Given the description of an element on the screen output the (x, y) to click on. 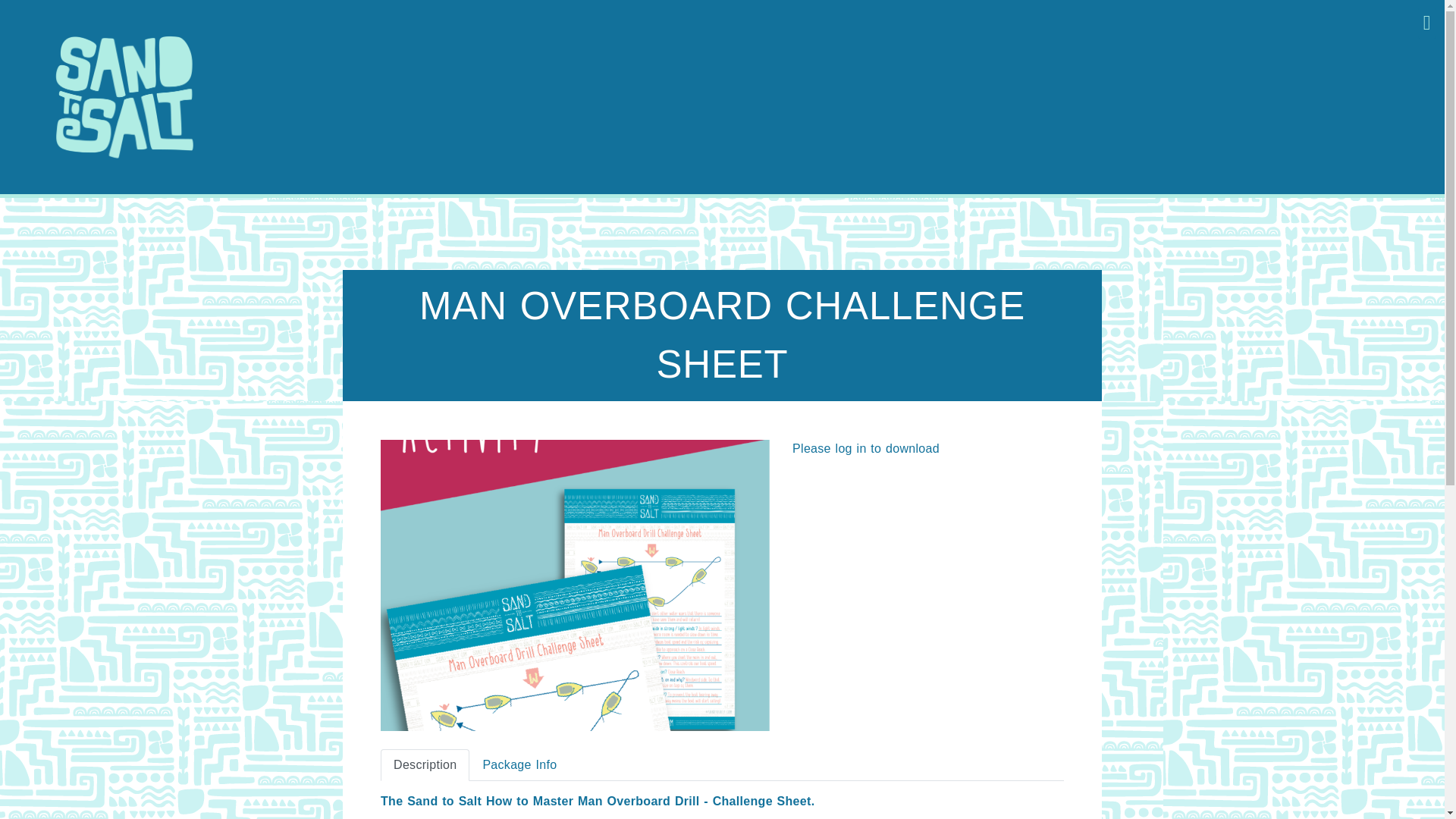
Package Info (518, 765)
Description (424, 765)
Please log in to download (865, 448)
